Given the description of an element on the screen output the (x, y) to click on. 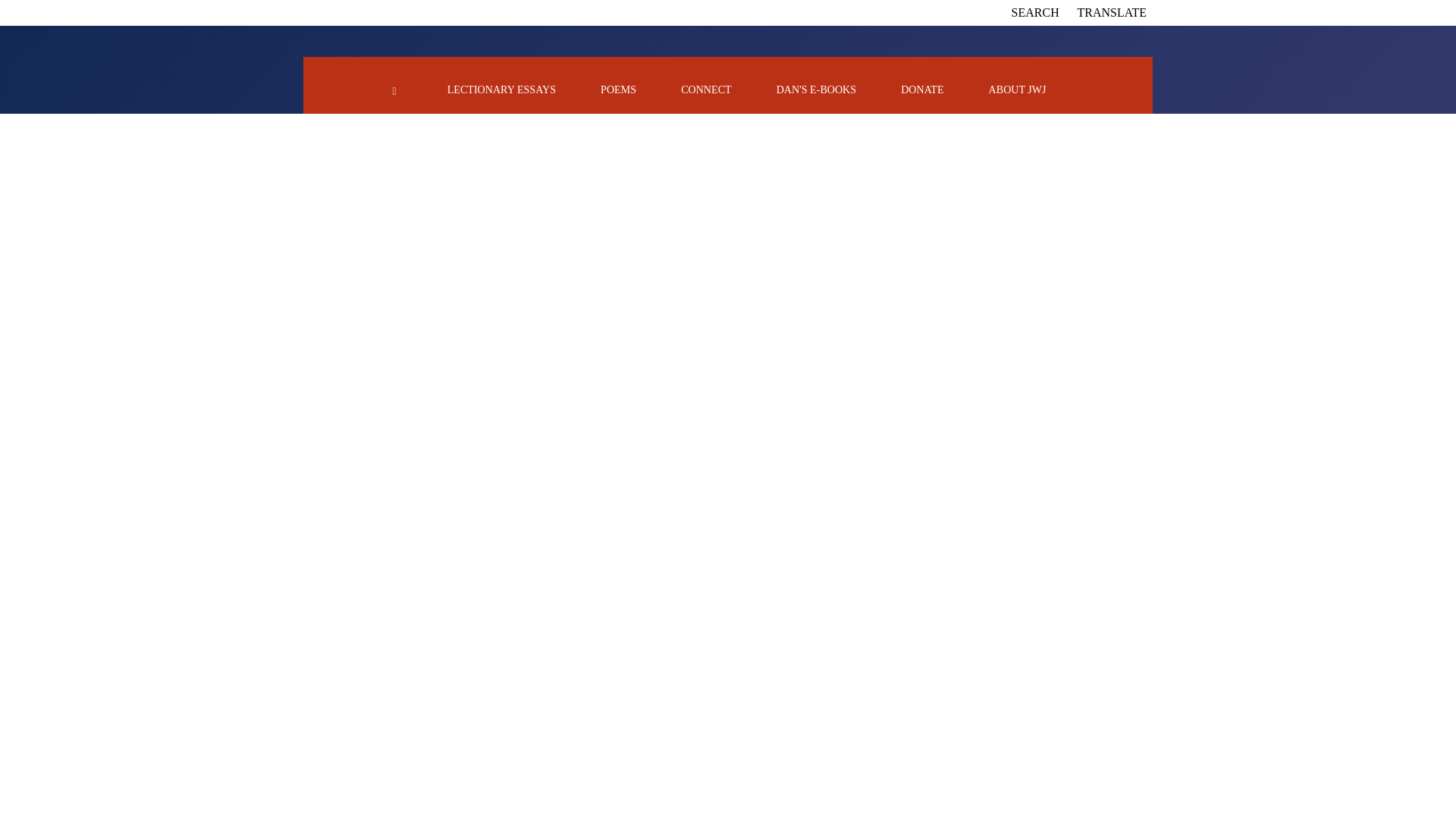
HOME (395, 89)
SEARCH (1035, 11)
ABOUT JWJ (1017, 89)
POEMS (617, 89)
DONATE (922, 89)
TRANSLATE (1112, 11)
LECTIONARY ESSAYS (501, 89)
DAN'S E-BOOKS (816, 89)
CONNECT (705, 89)
